Given the description of an element on the screen output the (x, y) to click on. 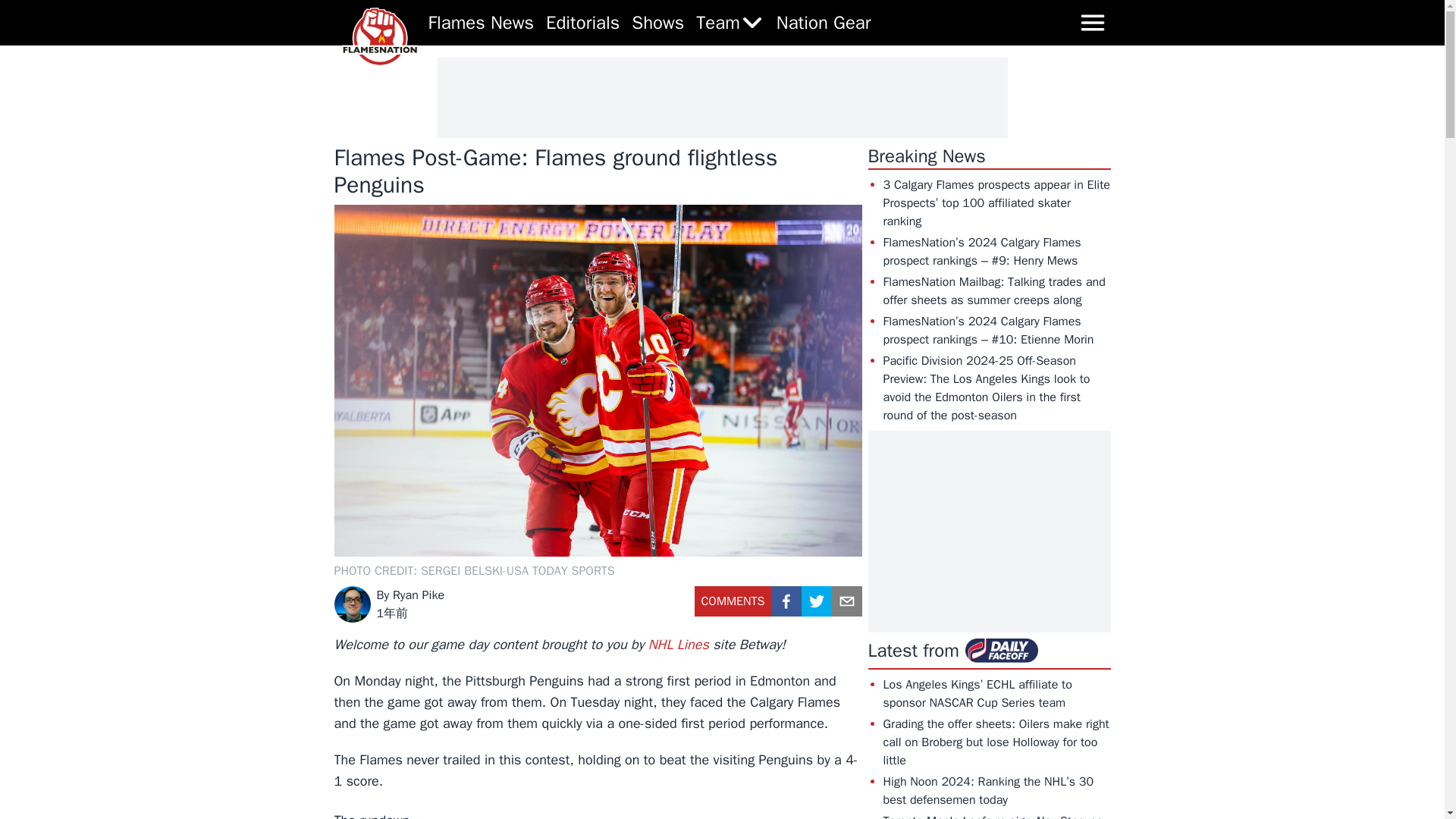
COMMENTS (732, 606)
Nation Gear (823, 22)
Flames News (481, 22)
NHL Lines (678, 644)
Ryan Pike (418, 595)
Editorials (583, 22)
Shows (657, 22)
